Given the description of an element on the screen output the (x, y) to click on. 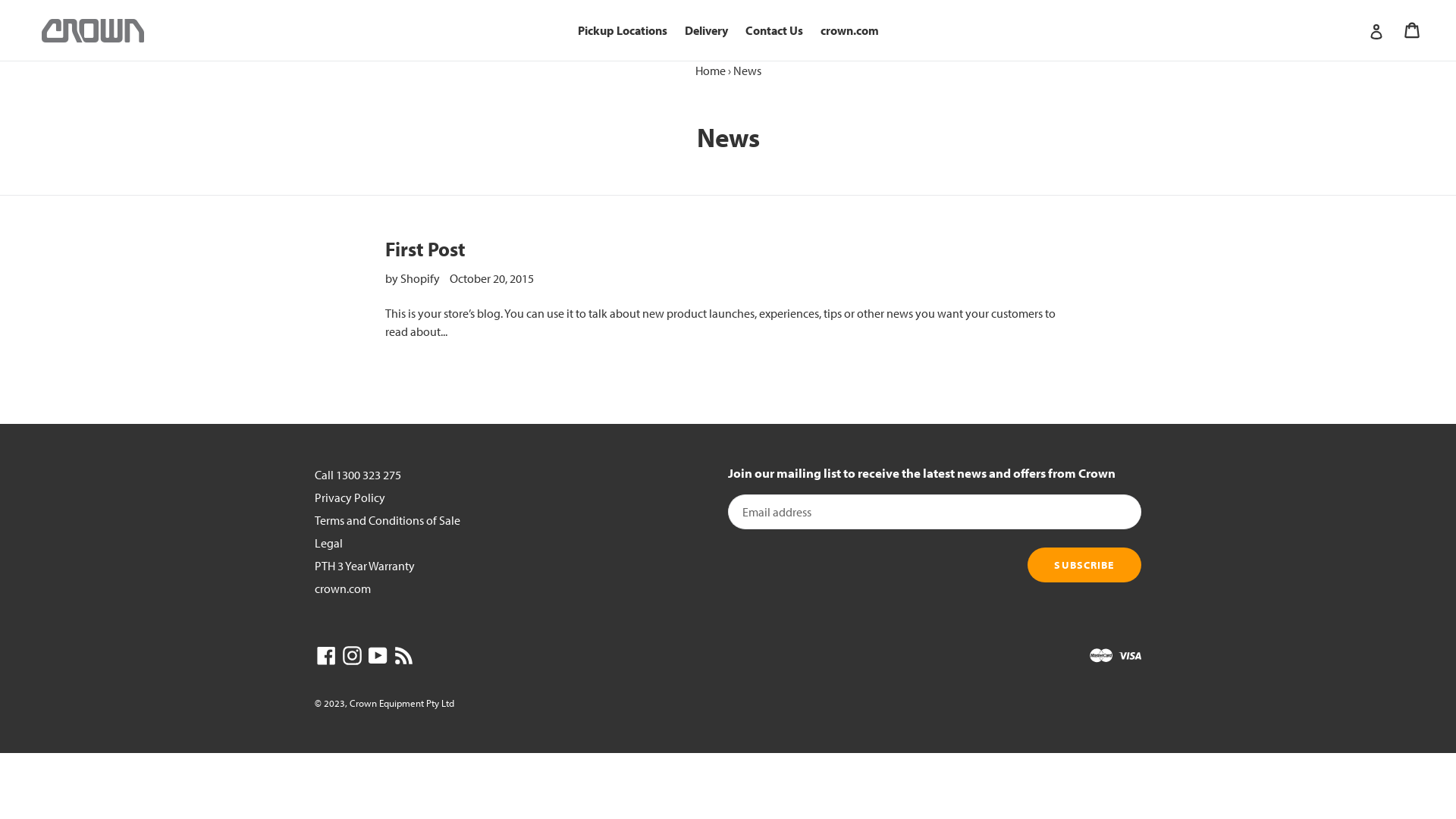
PTH 3 Year Warranty Element type: text (364, 565)
Home Element type: text (709, 70)
crown.com Element type: text (342, 588)
RSS Element type: text (403, 654)
Pickup Locations Element type: text (622, 29)
Facebook Element type: text (326, 654)
Delivery Element type: text (705, 29)
Log in Element type: text (1375, 30)
crown.com Element type: text (849, 29)
YouTube Element type: text (377, 654)
Privacy Policy Element type: text (349, 497)
Contact Us Element type: text (773, 29)
Call 1300 323 275 Element type: text (357, 474)
Terms and Conditions of Sale Element type: text (387, 519)
Cart
Cart Element type: text (1412, 29)
SUBSCRIBE Element type: text (1084, 564)
First Post Element type: text (425, 248)
Instagram Element type: text (352, 654)
Legal Element type: text (328, 542)
Crown Equipment Pty Ltd Element type: text (401, 702)
